Given the description of an element on the screen output the (x, y) to click on. 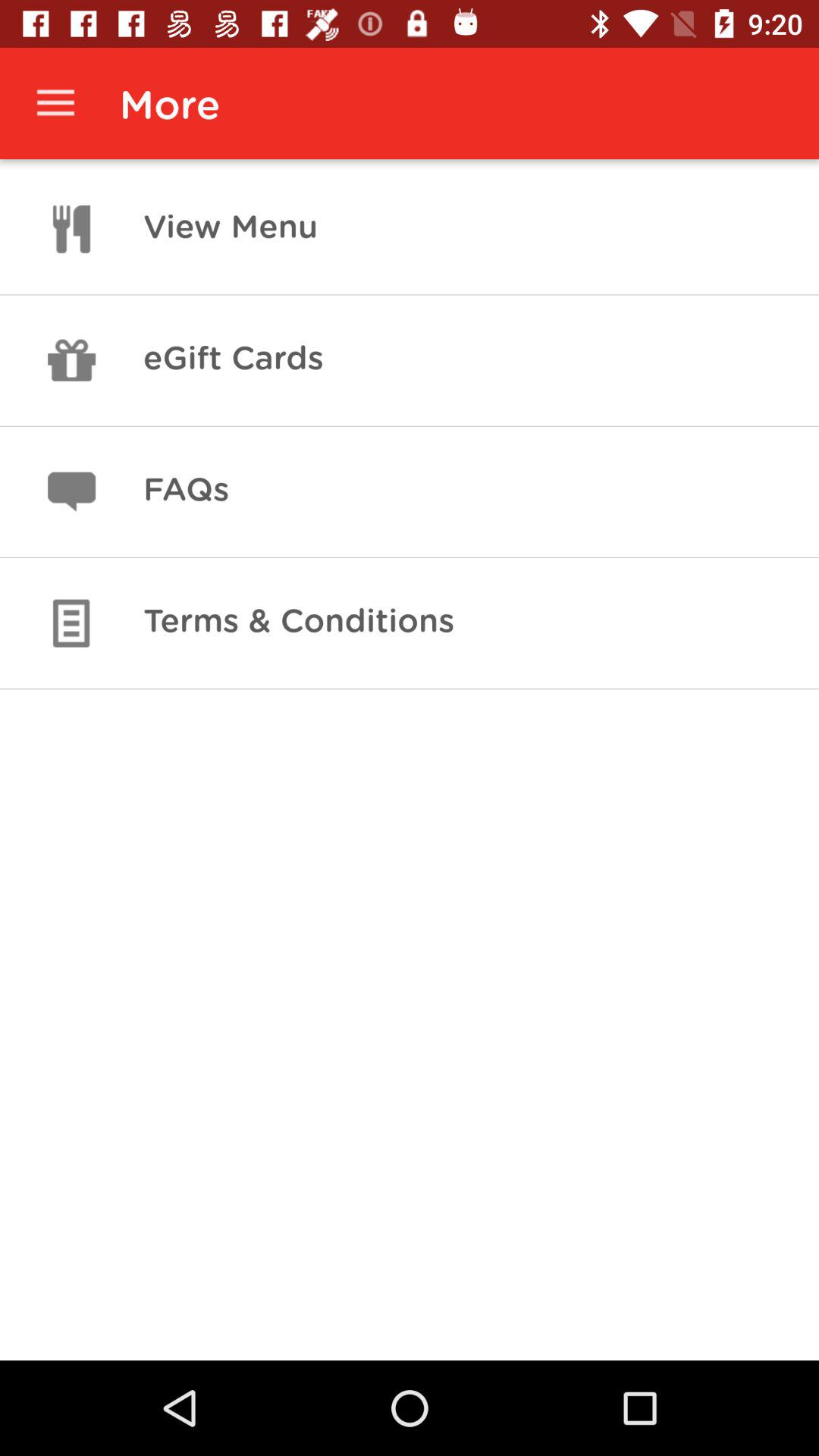
open egift cards icon (233, 360)
